Given the description of an element on the screen output the (x, y) to click on. 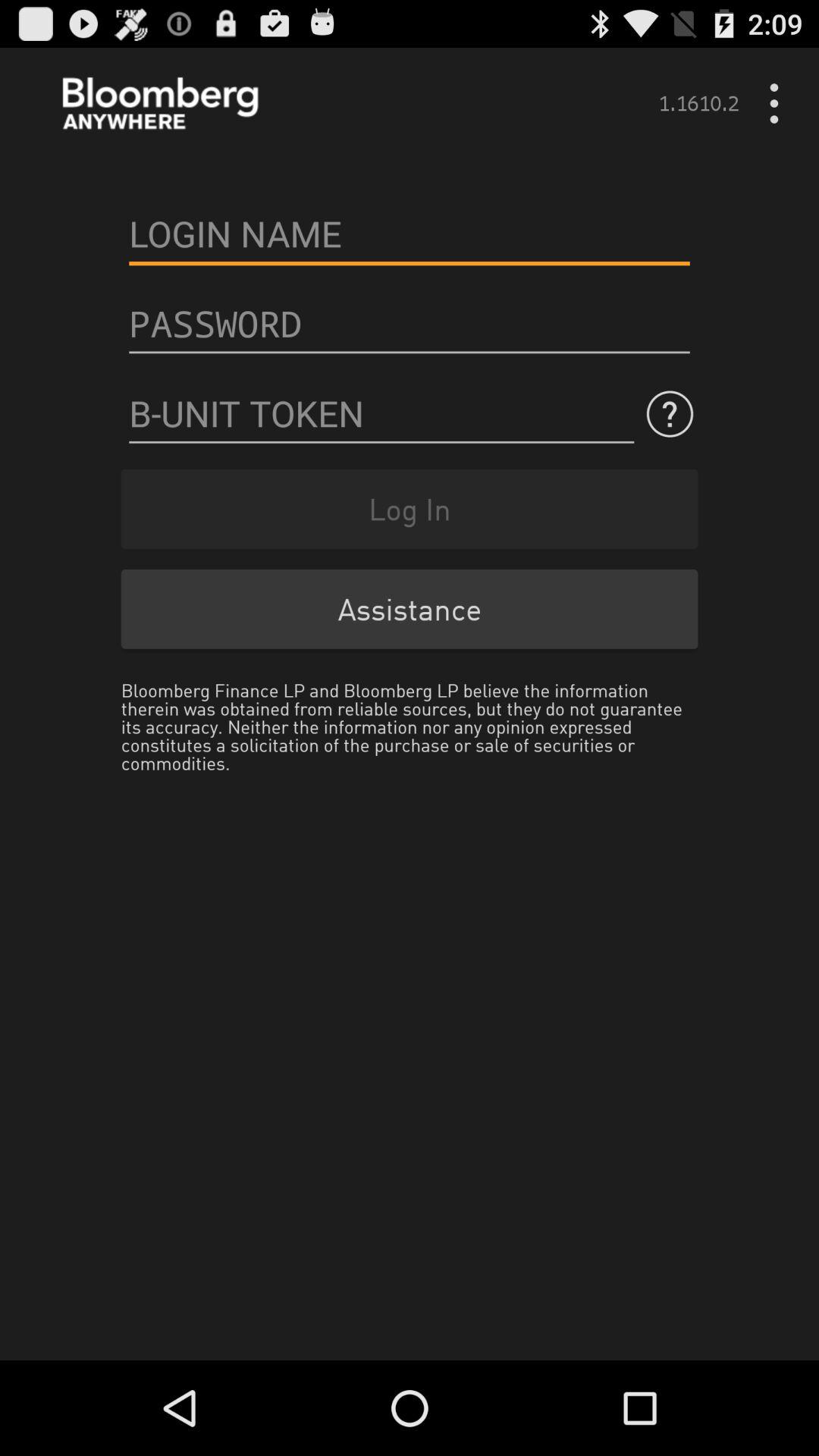
secure token entry login (381, 413)
